Given the description of an element on the screen output the (x, y) to click on. 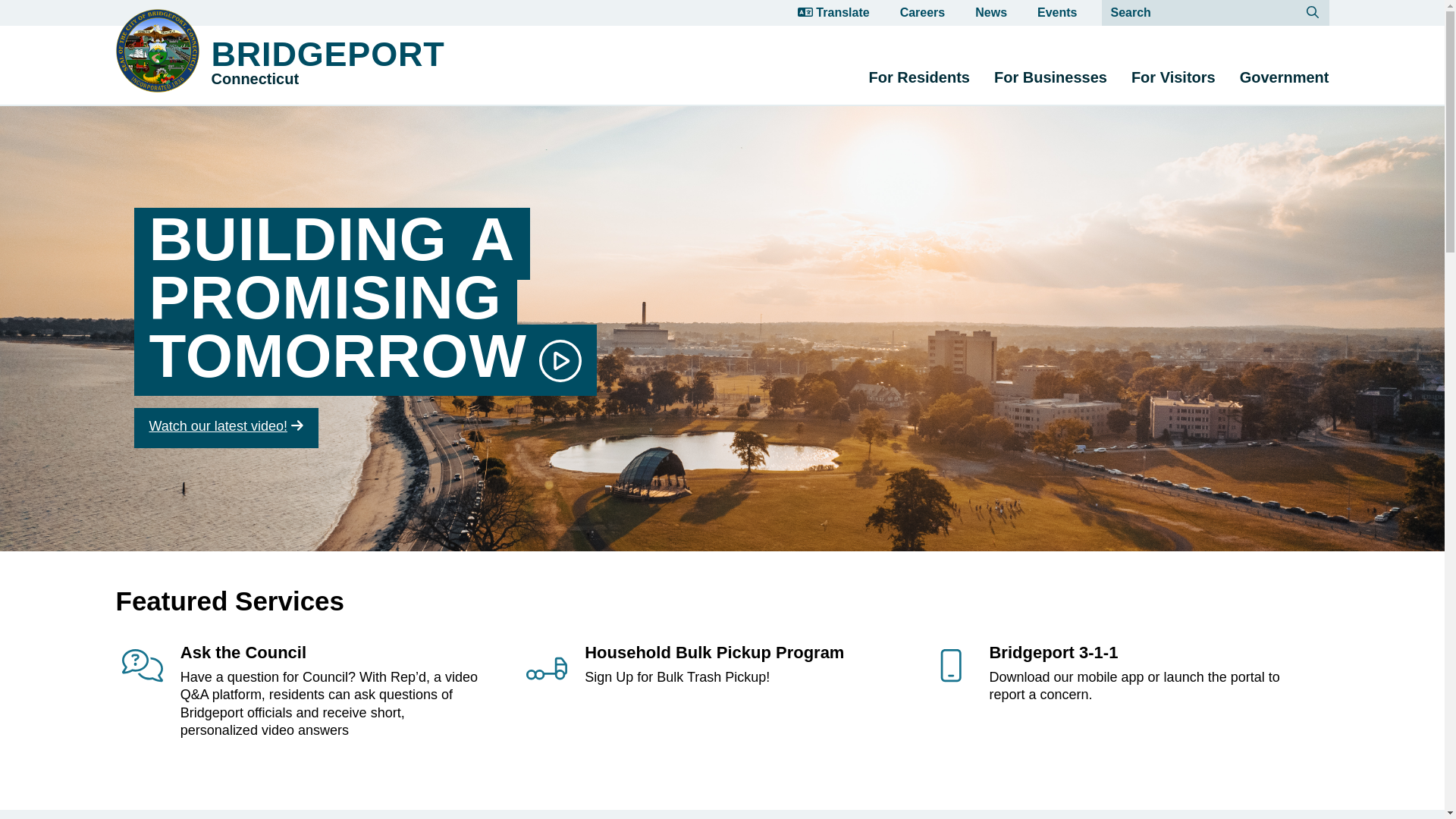
Events (1056, 12)
For Visitors (367, 321)
For Residents (1173, 77)
Government (236, 50)
News (919, 77)
Careers (1284, 77)
Translate (702, 691)
For Businesses (991, 12)
Skip to main content (921, 12)
